Given the description of an element on the screen output the (x, y) to click on. 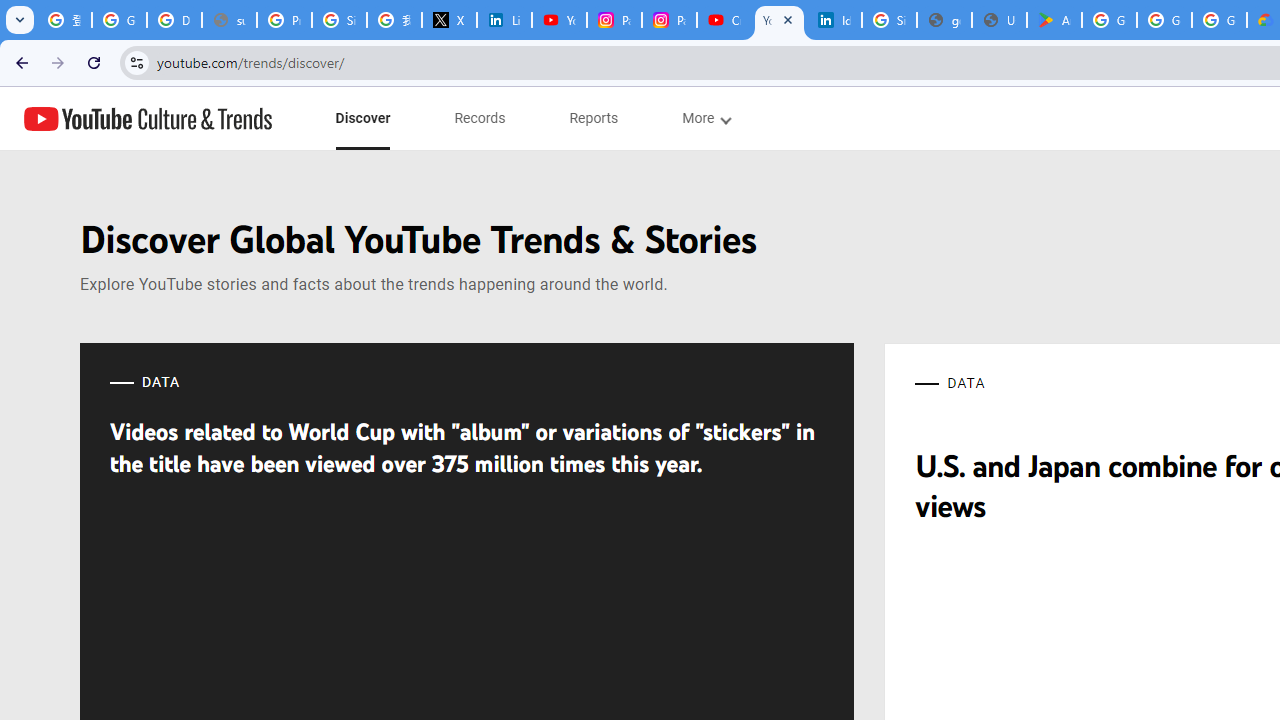
Privacy Help Center - Policies Help (284, 20)
subnav-More menupopup (706, 118)
Sign in - Google Accounts (888, 20)
LinkedIn Privacy Policy (504, 20)
YouTube Content Monetization Policies - How YouTube Works (559, 20)
JUMP TO CONTENT (209, 119)
X (449, 20)
subnav-Records menupopup (479, 118)
Google Workspace - Specific Terms (1218, 20)
